Given the description of an element on the screen output the (x, y) to click on. 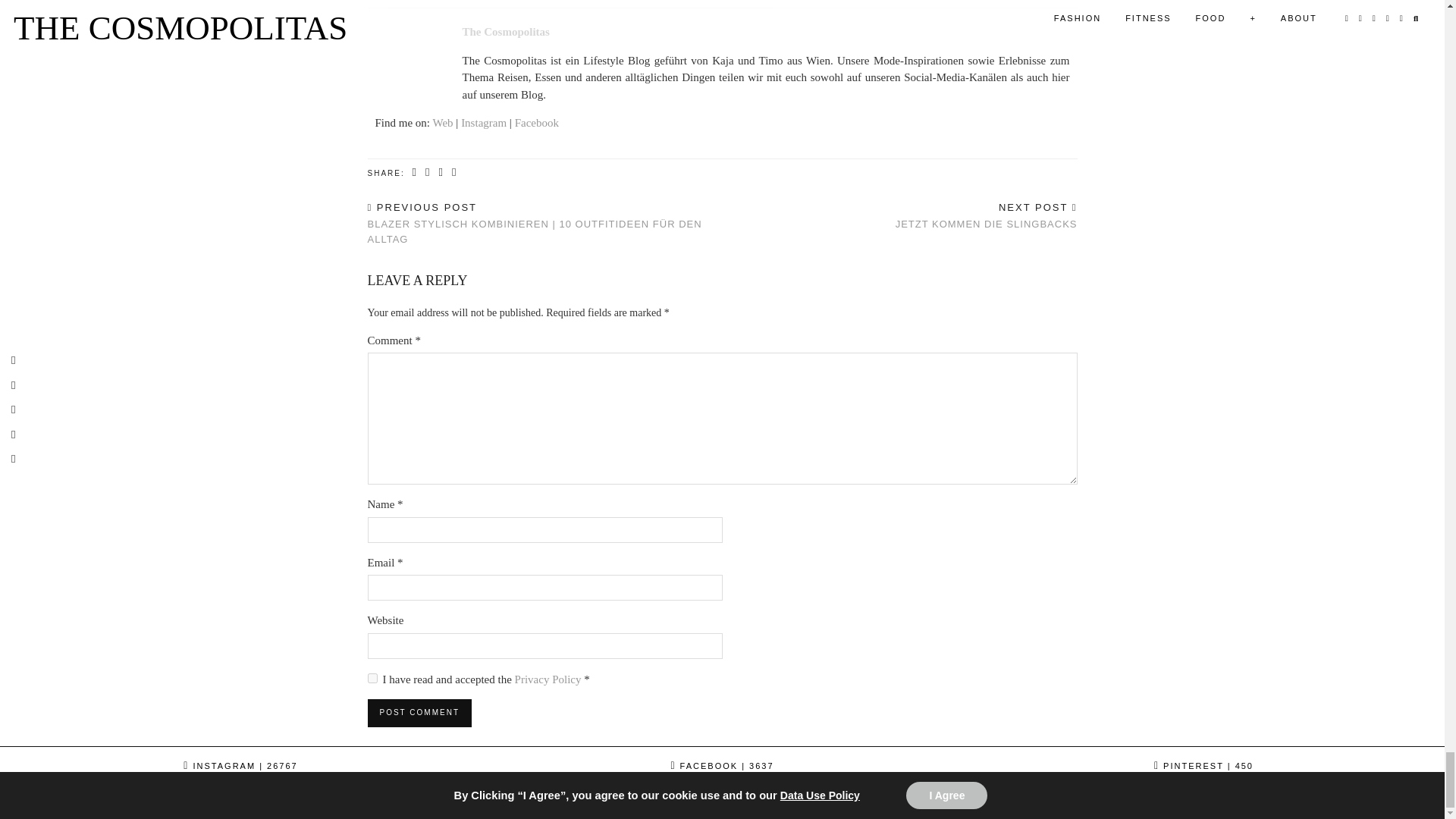
Post Comment (418, 712)
policy-key (371, 678)
